Given the description of an element on the screen output the (x, y) to click on. 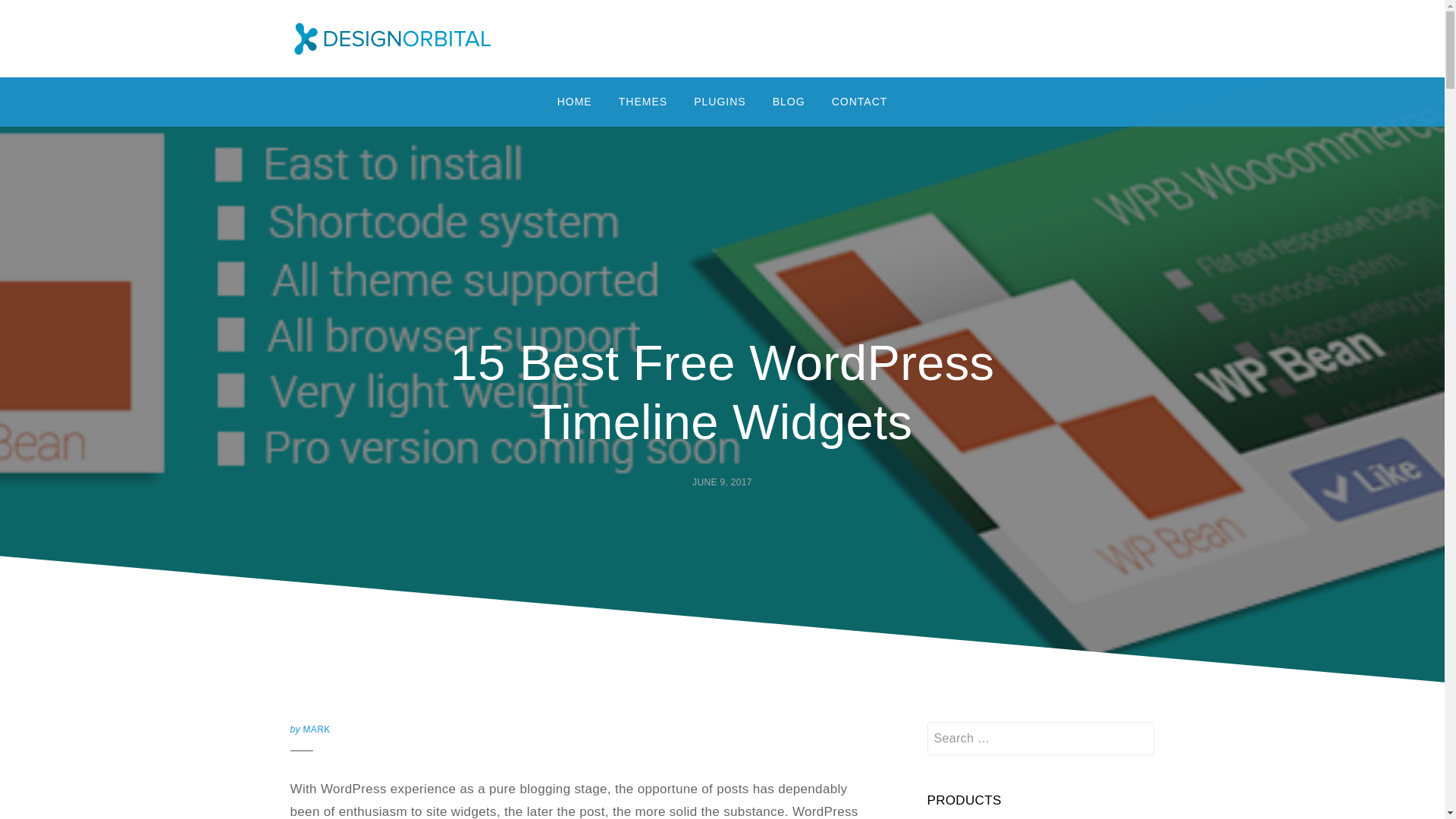
PLUGINS (719, 101)
HOME (575, 101)
DESIGNORBITAL (408, 67)
THEMES (642, 101)
DesignOrbital (408, 67)
MARK (316, 728)
BLOG (788, 101)
CONTACT (860, 101)
JUNE 9, 2017 (722, 481)
